Given the description of an element on the screen output the (x, y) to click on. 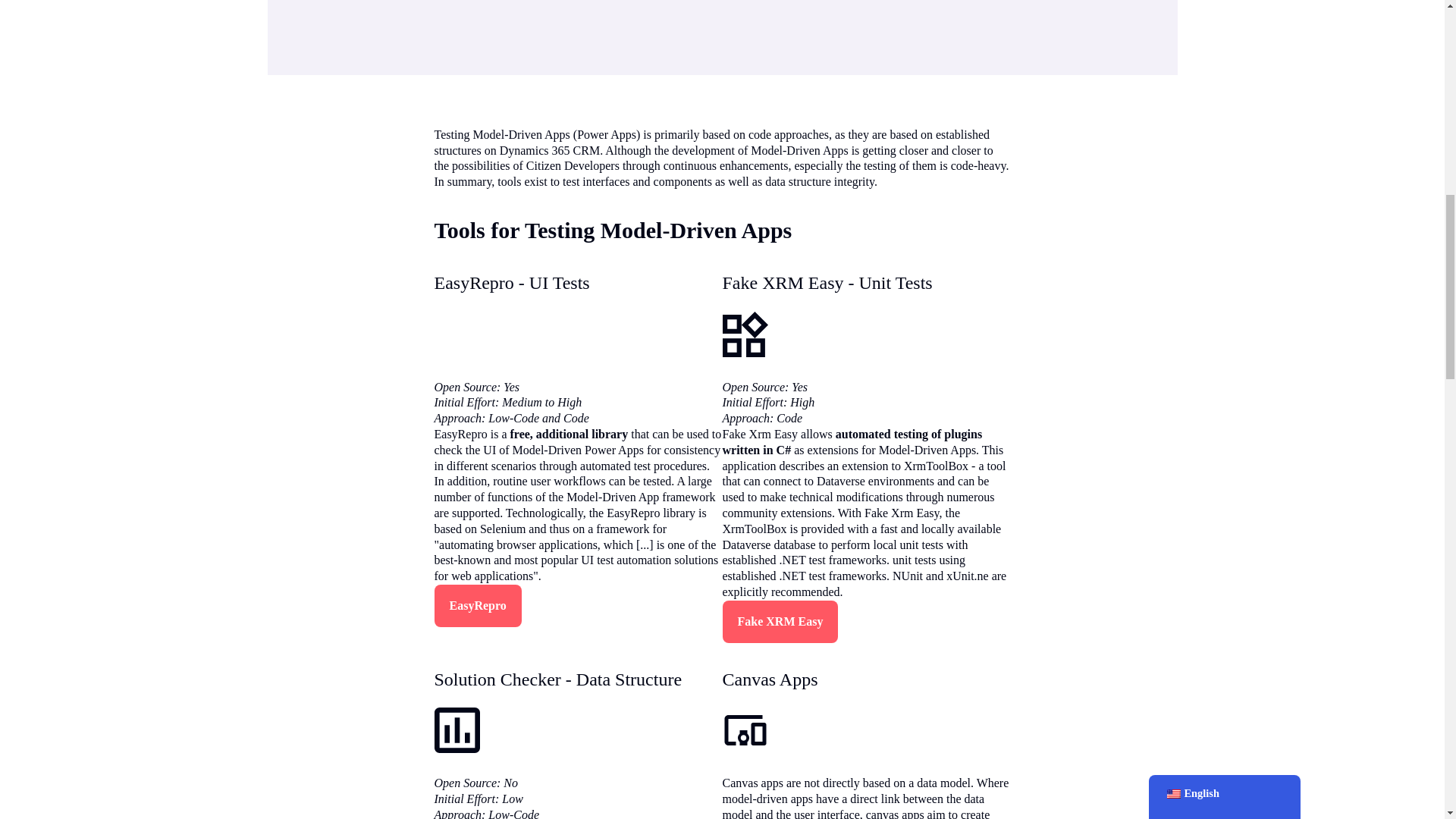
EasyRepro (477, 605)
Fake XRM Easy (780, 621)
